Given the description of an element on the screen output the (x, y) to click on. 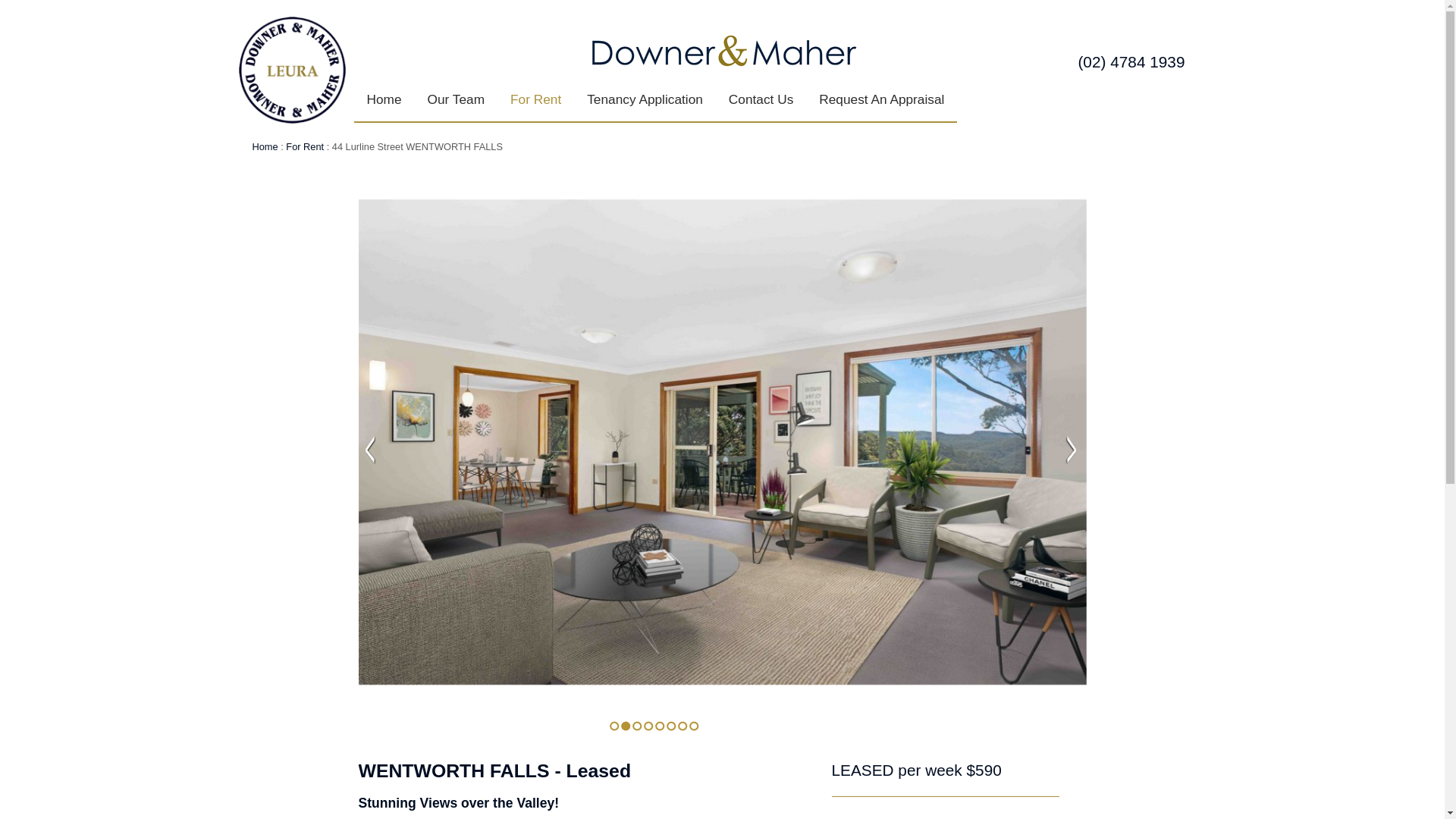
1 Element type: text (614, 726)
Home Element type: text (383, 100)
Tenancy Application Element type: text (644, 100)
4 Element type: text (647, 726)
8 Element type: text (693, 726)
5 Element type: text (660, 726)
7 Element type: text (682, 726)
Home Element type: text (264, 146)
Next Element type: hover (1071, 450)
Our Team Element type: text (456, 100)
6 Element type: text (670, 726)
Request An Appraisal Element type: text (881, 100)
2 Element type: text (625, 726)
(02) 4784 1939 Element type: text (1130, 61)
For Rent Element type: text (304, 146)
For Rent Element type: text (535, 100)
Previous Element type: hover (368, 450)
3 Element type: text (637, 726)
Contact Us Element type: text (760, 100)
